Given the description of an element on the screen output the (x, y) to click on. 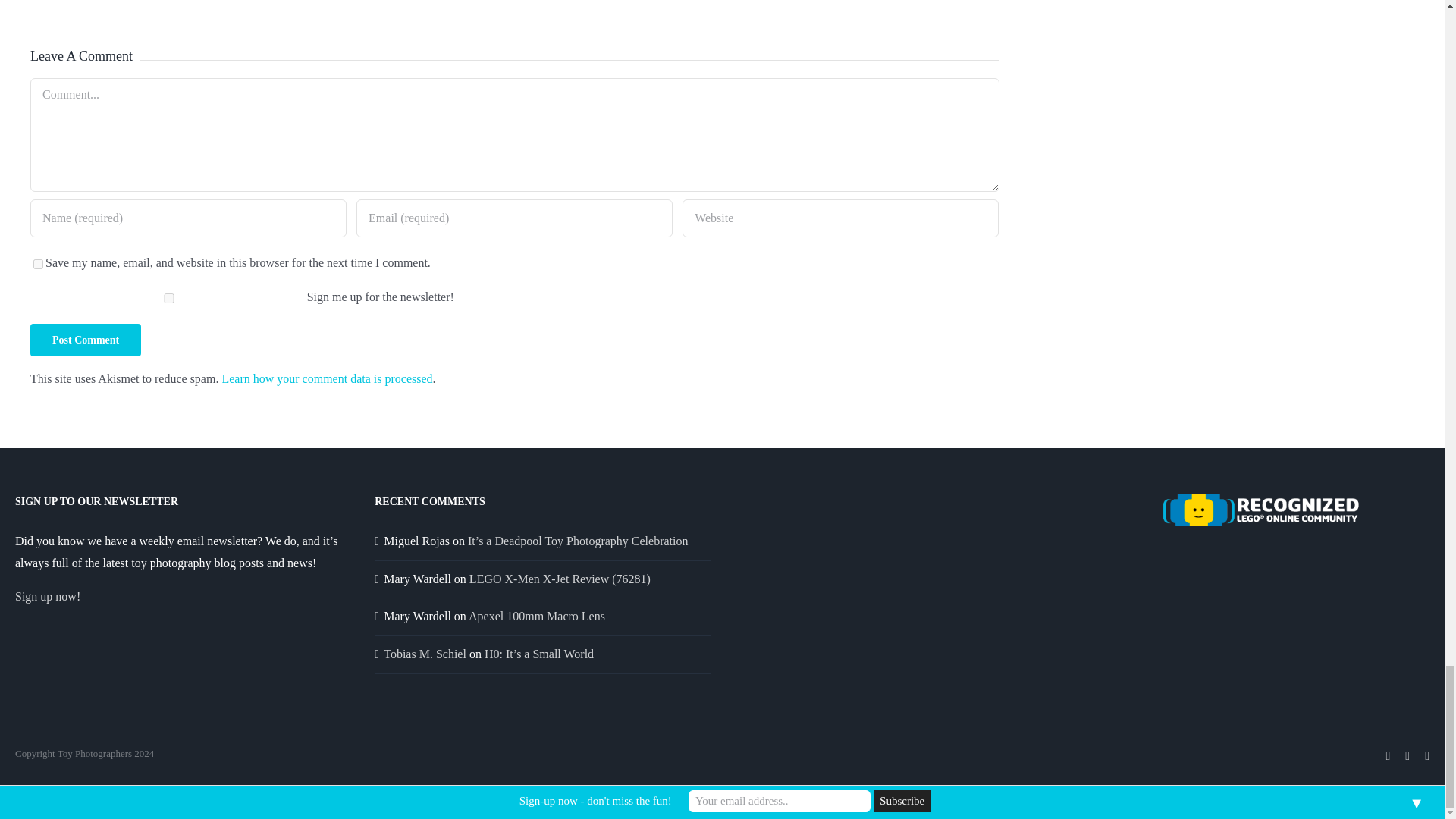
1 (168, 298)
Post Comment (85, 339)
yes (38, 264)
